Given the description of an element on the screen output the (x, y) to click on. 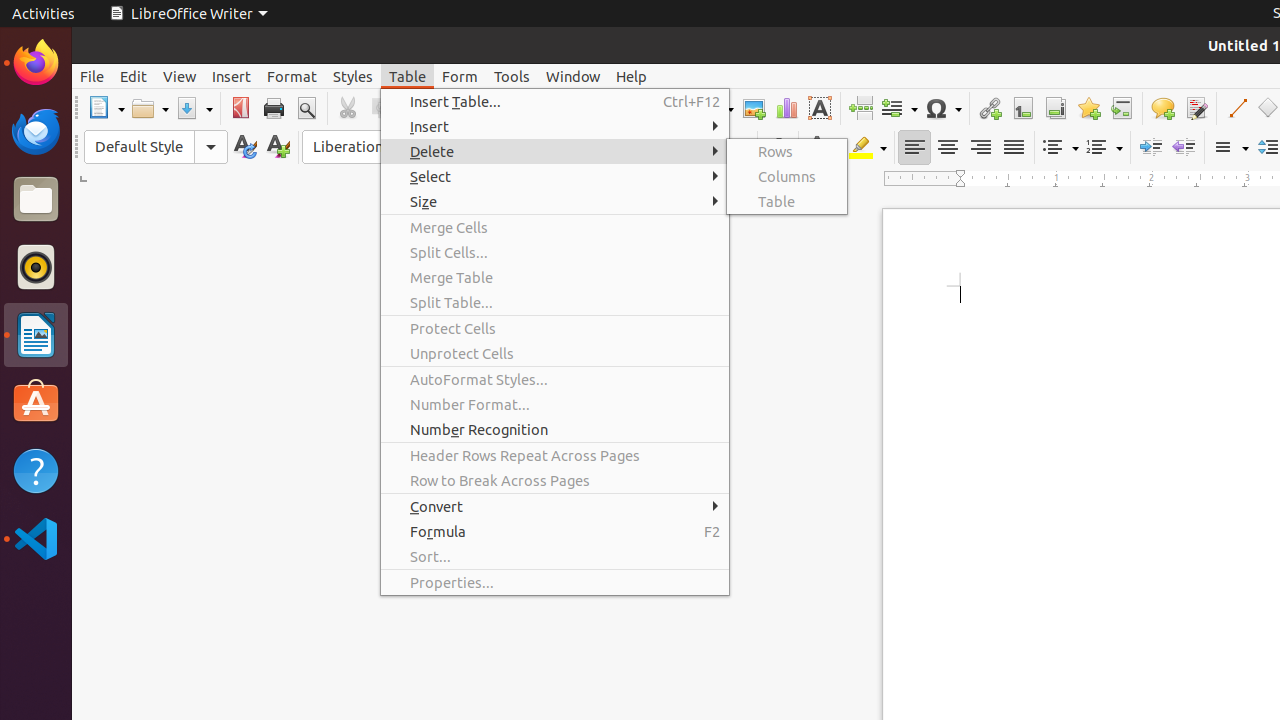
View Element type: menu (179, 76)
Line Element type: toggle-button (1236, 108)
Endnote Element type: push-button (1055, 108)
Table Element type: menu (407, 76)
Save Element type: push-button (194, 108)
